Given the description of an element on the screen output the (x, y) to click on. 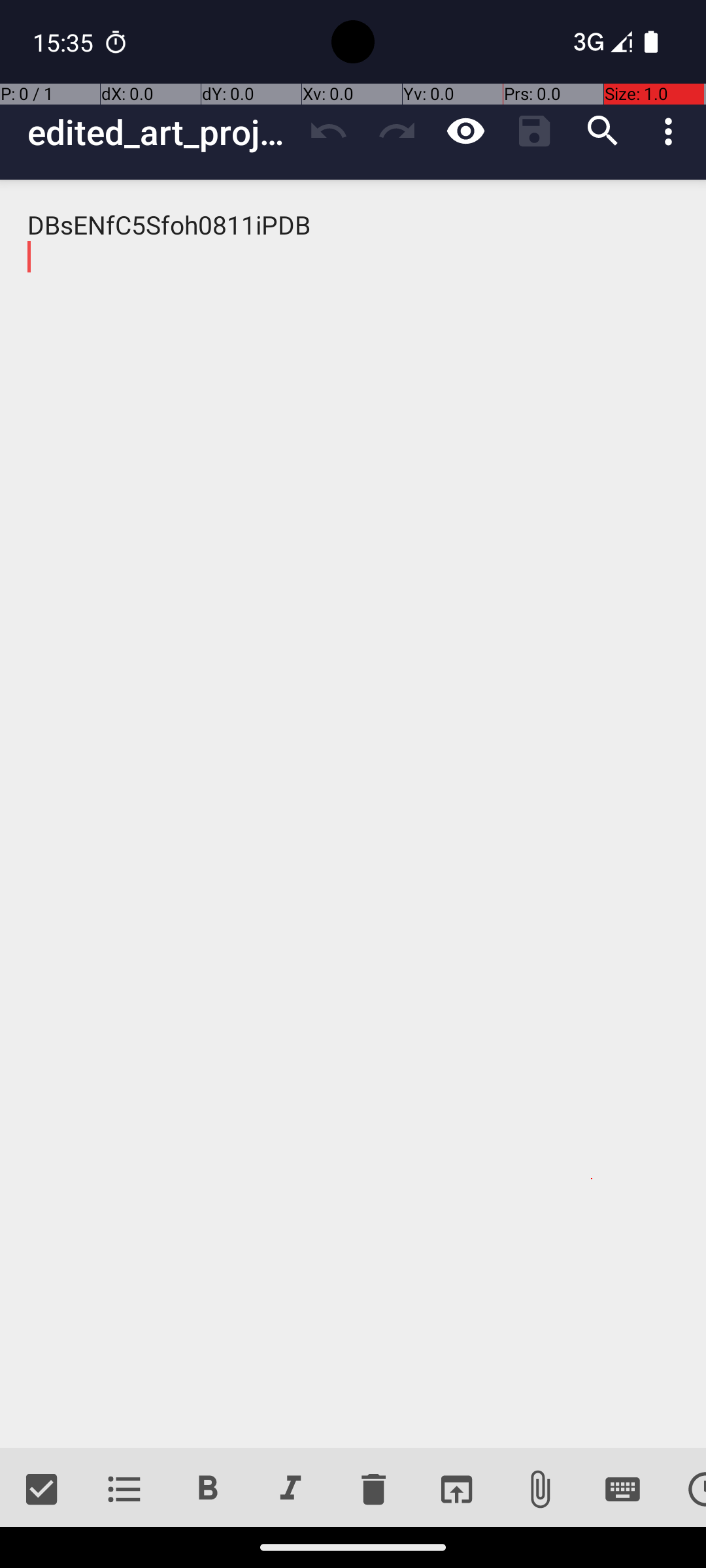
edited_art_project_sketches Element type: android.widget.TextView (160, 131)
DBsENfC5Sfoh0811iPDB
 Element type: android.widget.EditText (353, 813)
